Given the description of an element on the screen output the (x, y) to click on. 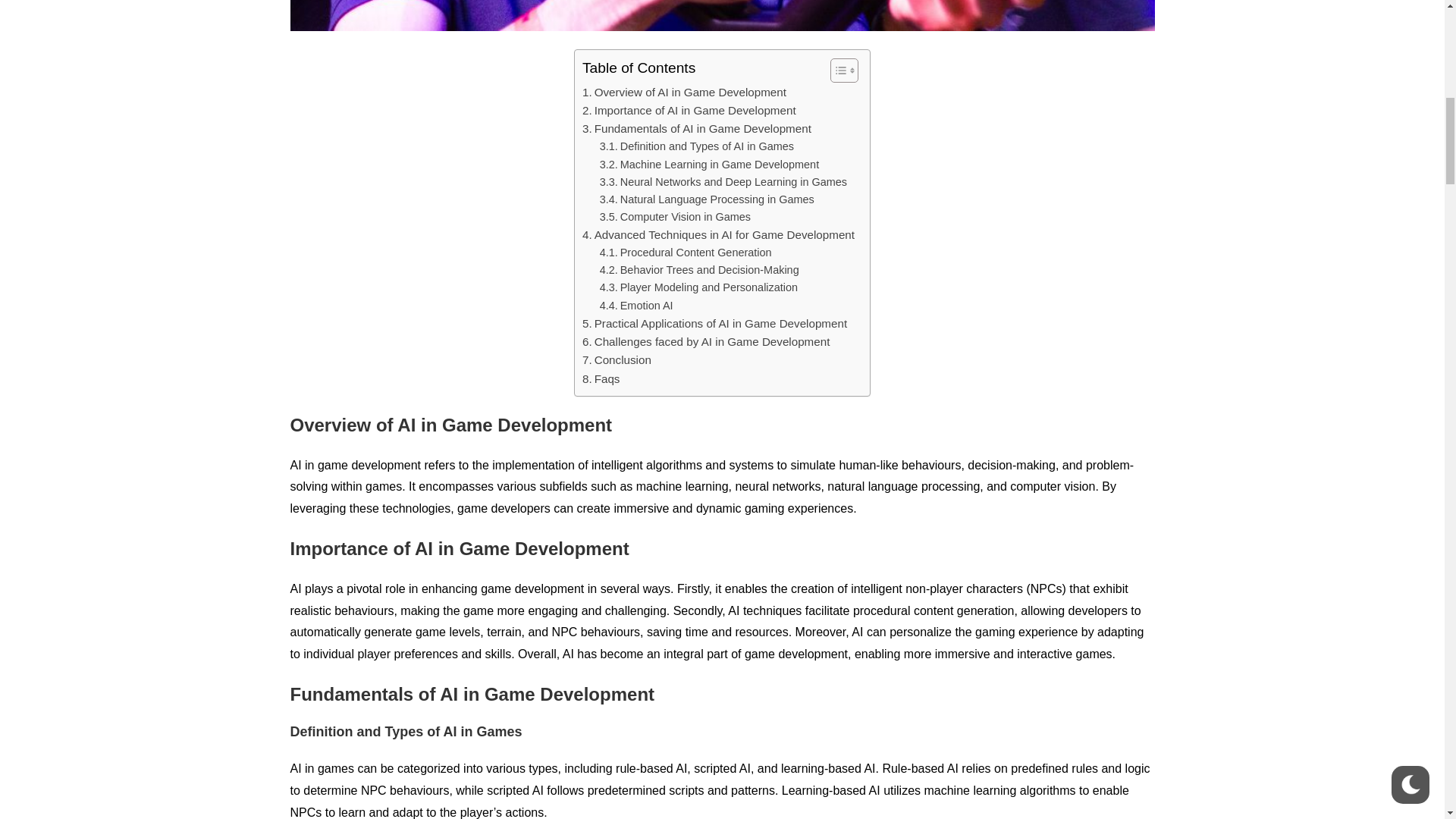
Faqs (601, 379)
Importance of AI in Game Development (689, 110)
Player Modeling and Personalization (698, 287)
Overview of AI in Game Development (684, 92)
Neural Networks and Deep Learning in Games (723, 181)
Neural Networks and Deep Learning in Games (723, 181)
Computer Vision in Games (675, 217)
Definition and Types of AI in Games (696, 146)
Procedural Content Generation (685, 252)
Natural Language Processing in Games (706, 199)
